Given the description of an element on the screen output the (x, y) to click on. 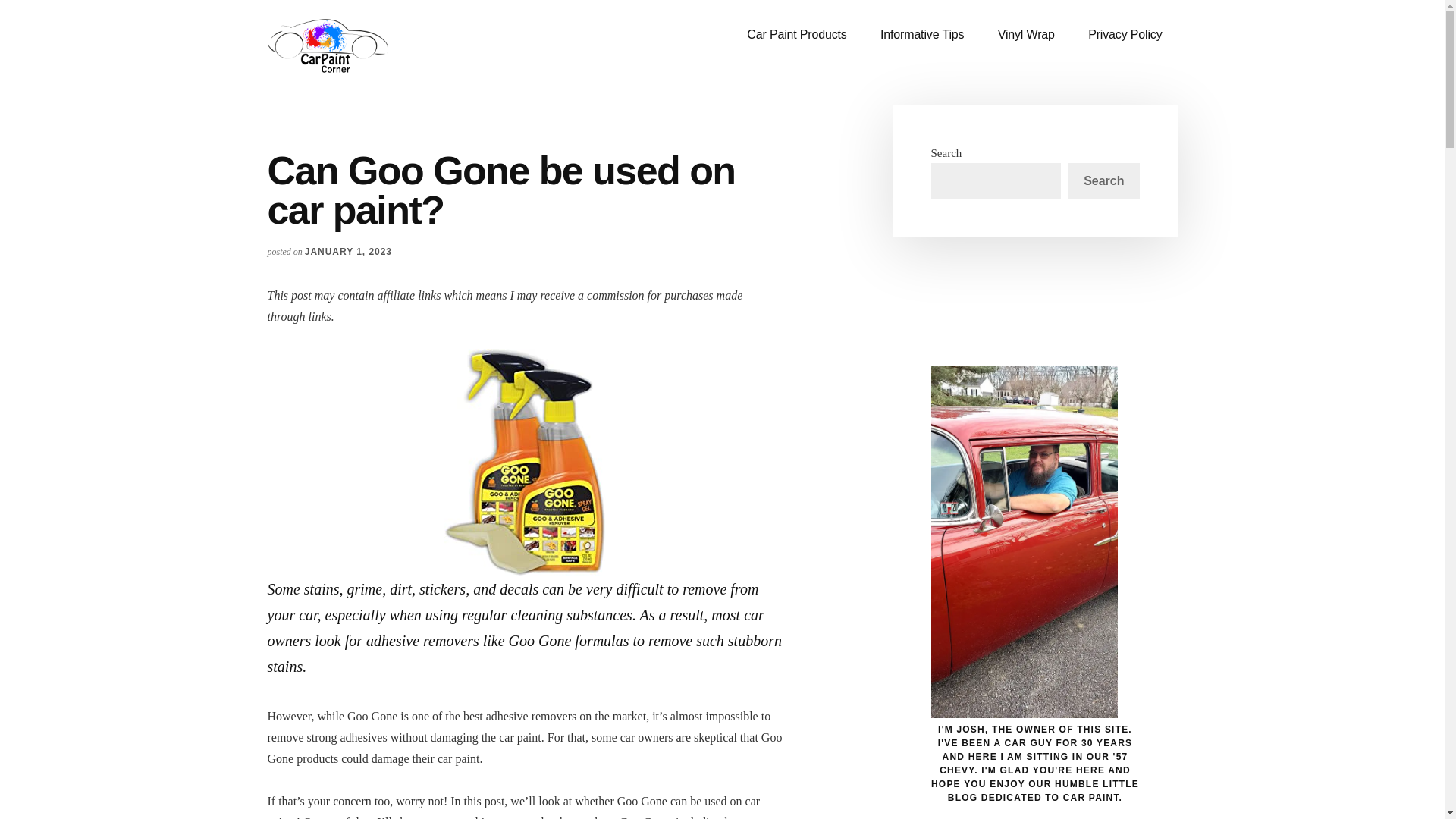
Search (1103, 180)
Vinyl Wrap (1026, 34)
Car Paint Products (796, 34)
Informative Tips (921, 34)
Privacy Policy (1124, 34)
